Given the description of an element on the screen output the (x, y) to click on. 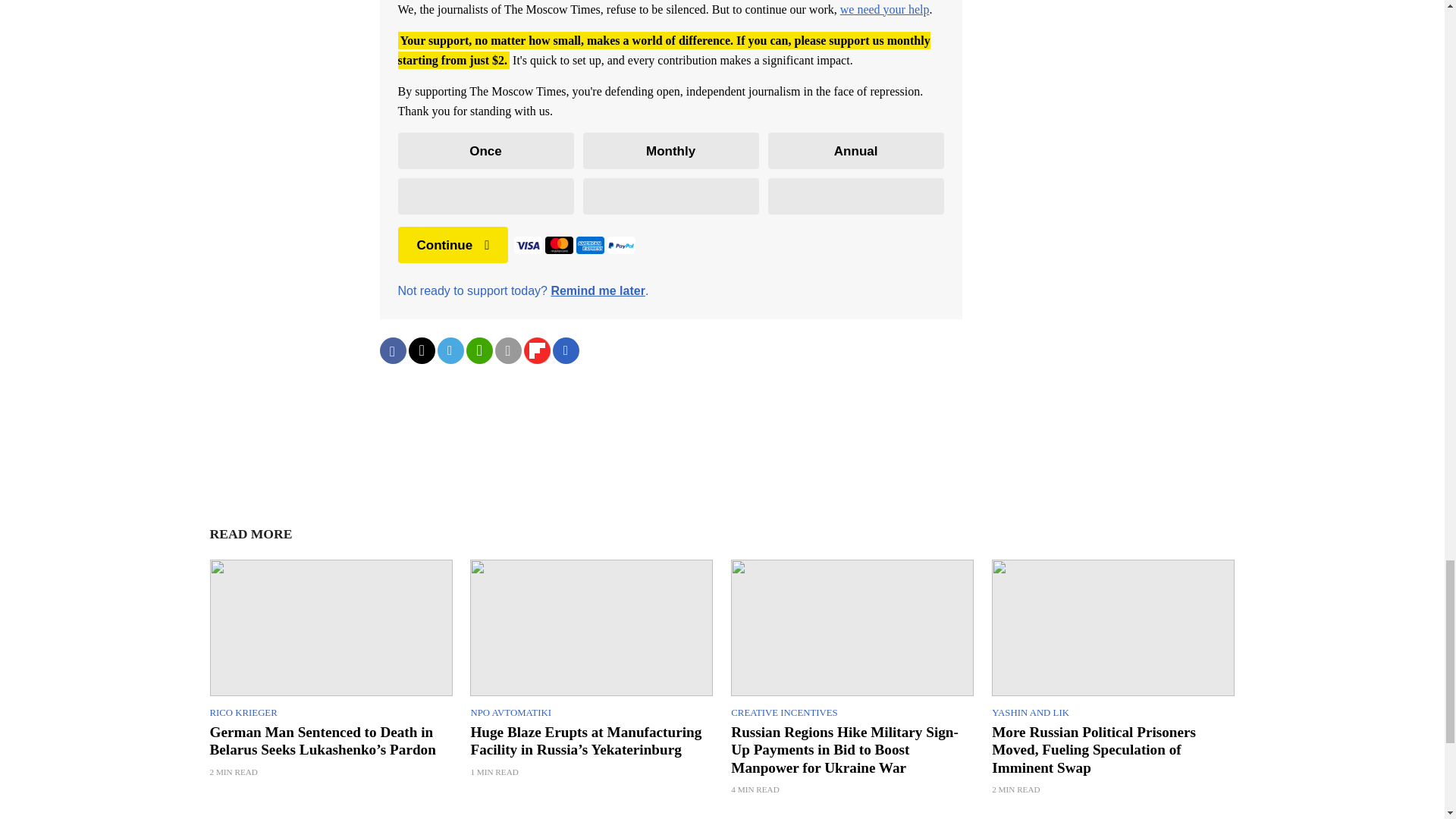
Share on Flipboard (536, 350)
Share on Facebook (392, 350)
Share on Twitter (420, 350)
we need your help (885, 9)
Share on Telegram (449, 350)
